Given the description of an element on the screen output the (x, y) to click on. 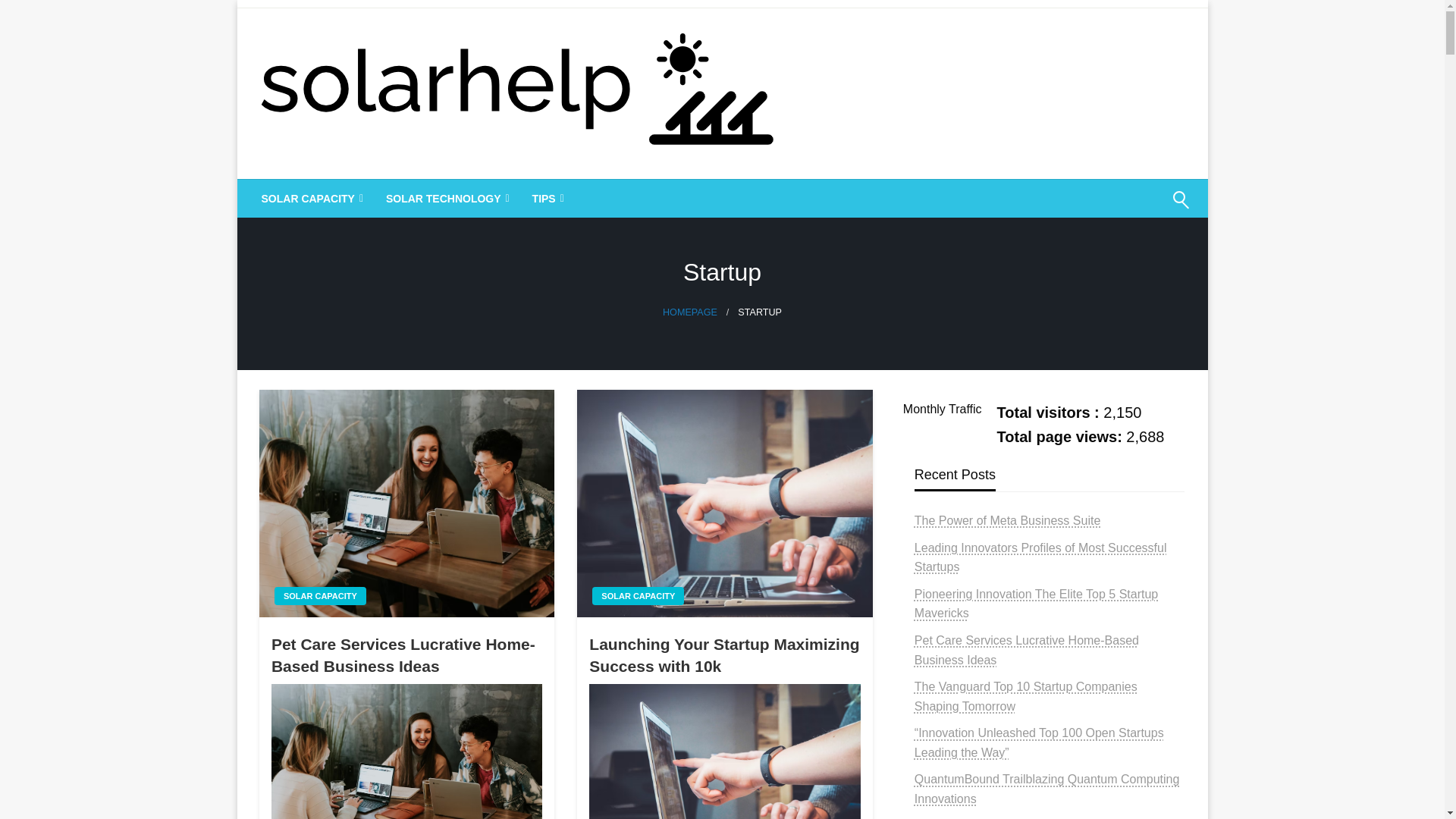
SOLAR CAPACITY (310, 198)
Launching Your Startup Maximizing Success with 10k (724, 655)
Pet Care Services Lucrative Home-Based Business Ideas (405, 655)
Launching Your Startup Maximizing Success with 10k (724, 503)
SOLAR TECHNOLOGY (445, 198)
Solarhelp (320, 198)
Launching Your Startup Maximizing Success with 10k (724, 751)
TIPS (546, 198)
Search (1144, 208)
